Given the description of an element on the screen output the (x, y) to click on. 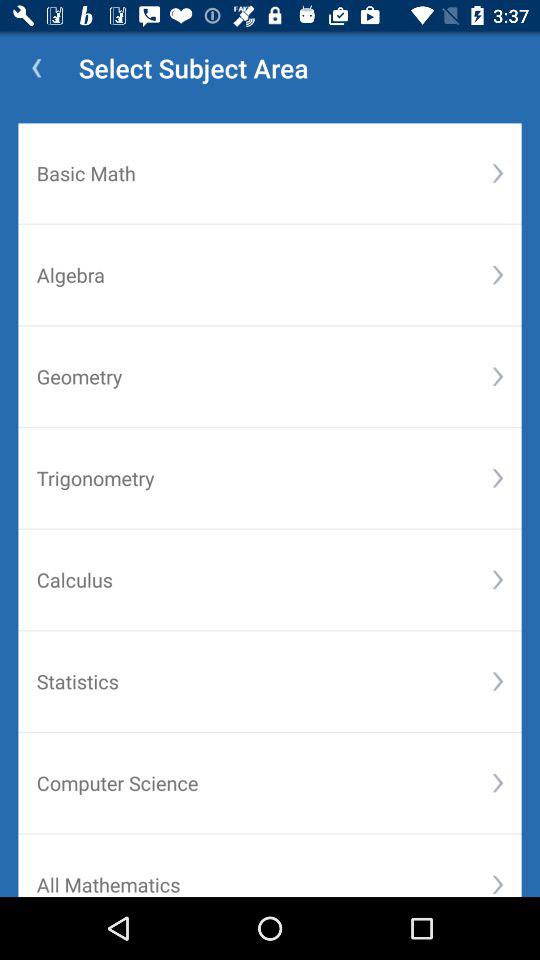
select the icon to the right of geometry item (497, 376)
